Given the description of an element on the screen output the (x, y) to click on. 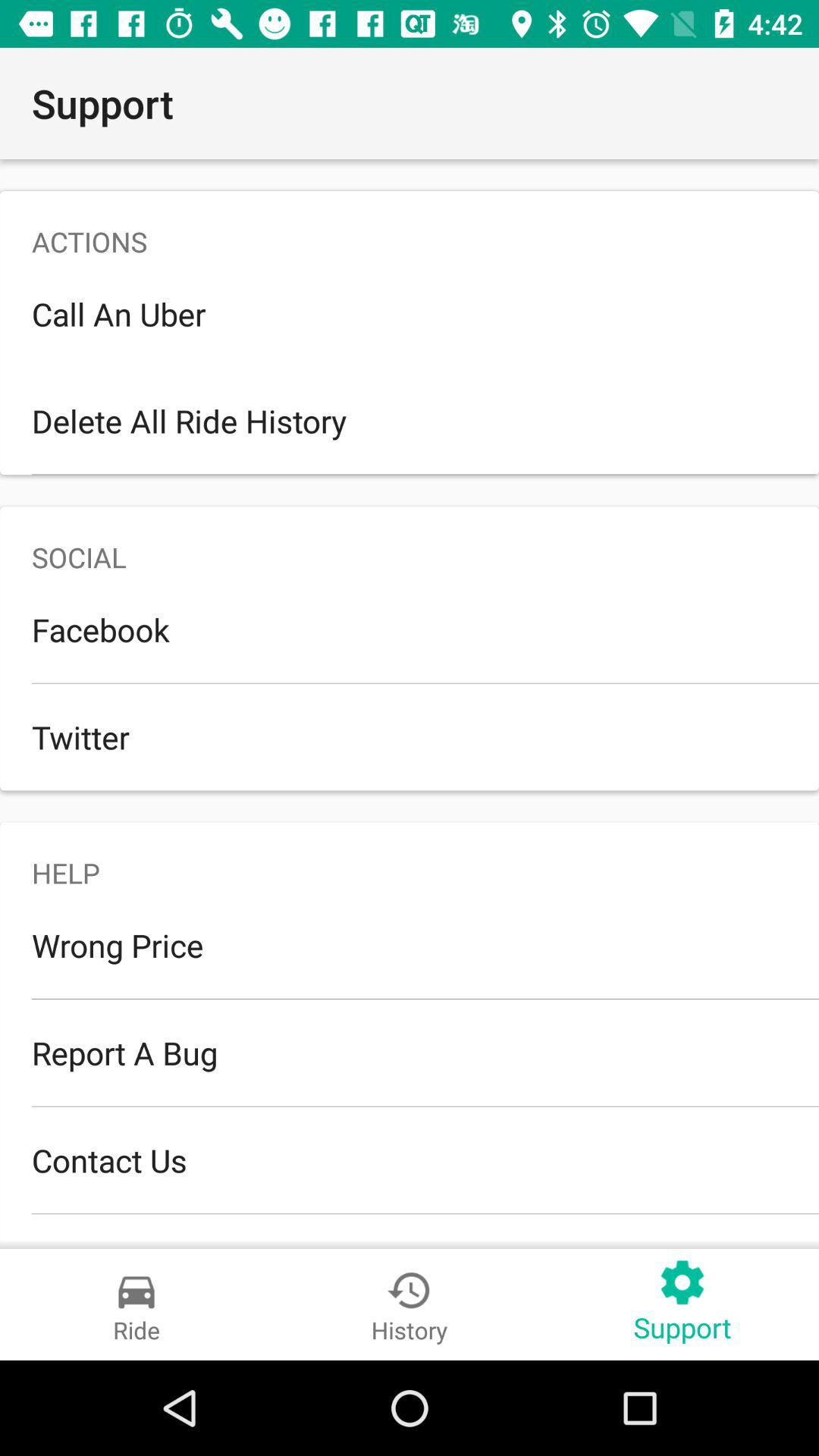
click the join beta team (409, 1227)
